Given the description of an element on the screen output the (x, y) to click on. 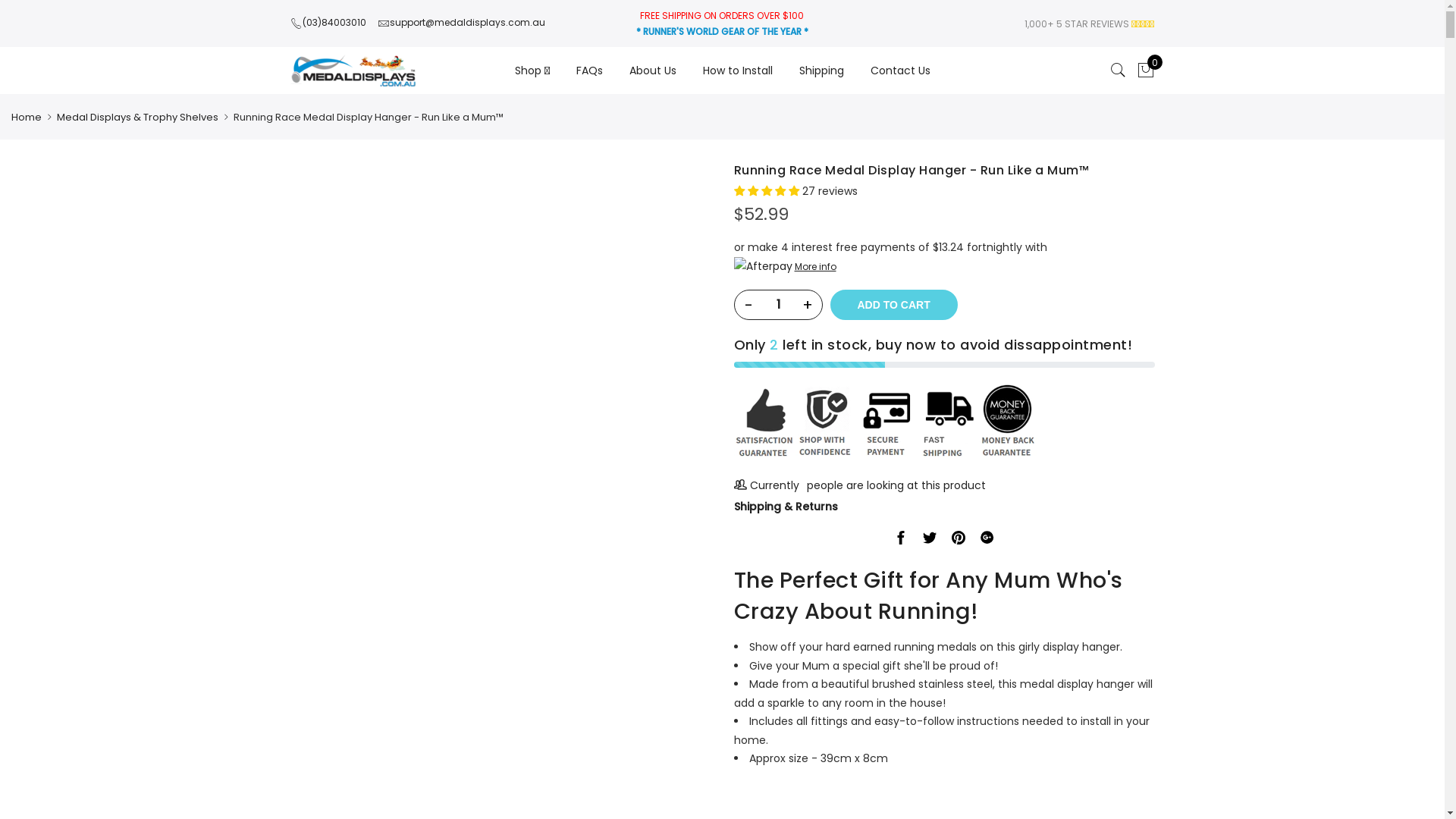
Tweet on Twitter Element type: hover (929, 540)
Home Element type: text (26, 117)
Pin on Pinterest Element type: hover (987, 540)
+ Element type: text (807, 304)
Contact Us Element type: text (900, 70)
Shipping Element type: text (821, 70)
- Element type: text (748, 304)
How to Install Element type: text (736, 70)
0 Element type: text (1144, 70)
support@medaldisplays.com.au Element type: text (461, 23)
Shipping & Returns Element type: text (785, 506)
More info Element type: text (944, 266)
(03)84003010 Element type: text (327, 23)
Medal Displays & Trophy Shelves Element type: text (137, 117)
Pin on Pinterest Element type: hover (958, 540)
ADD TO CART Element type: text (893, 304)
Share on Facebook Element type: hover (900, 540)
FAQs Element type: text (589, 70)
About Us Element type: text (652, 70)
